Given the description of an element on the screen output the (x, y) to click on. 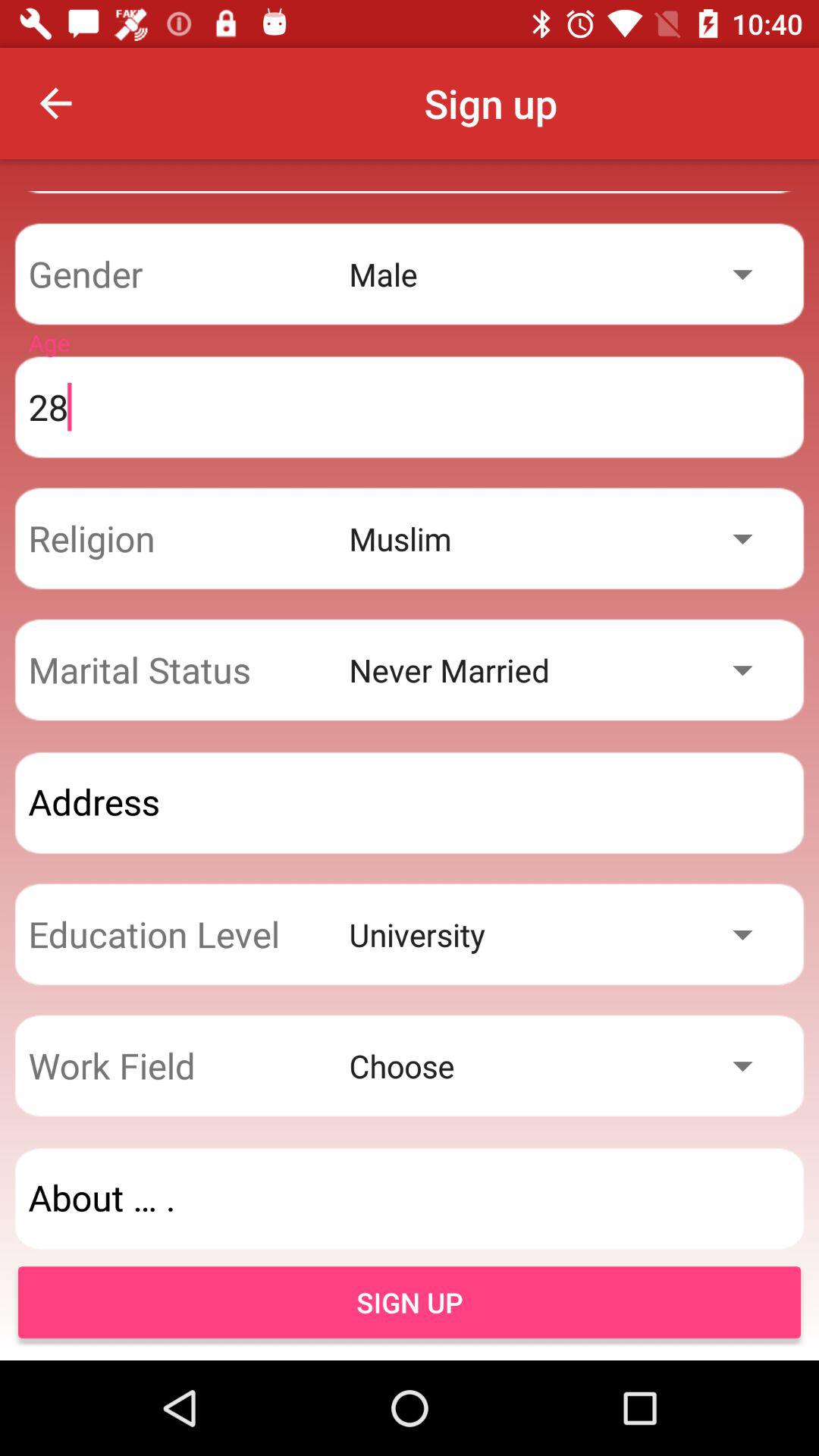
text box (409, 802)
